Given the description of an element on the screen output the (x, y) to click on. 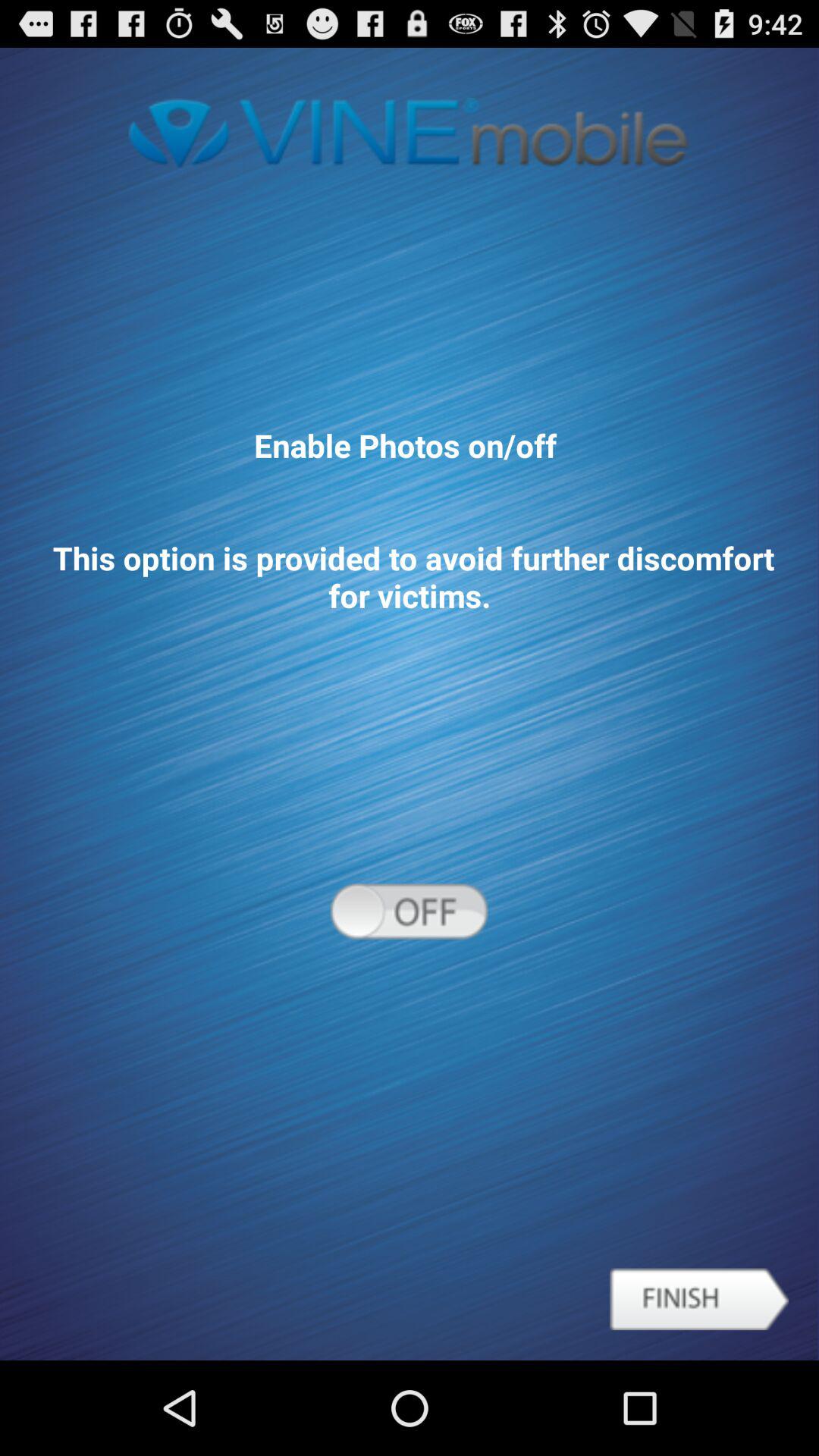
press item at the bottom right corner (698, 1299)
